Given the description of an element on the screen output the (x, y) to click on. 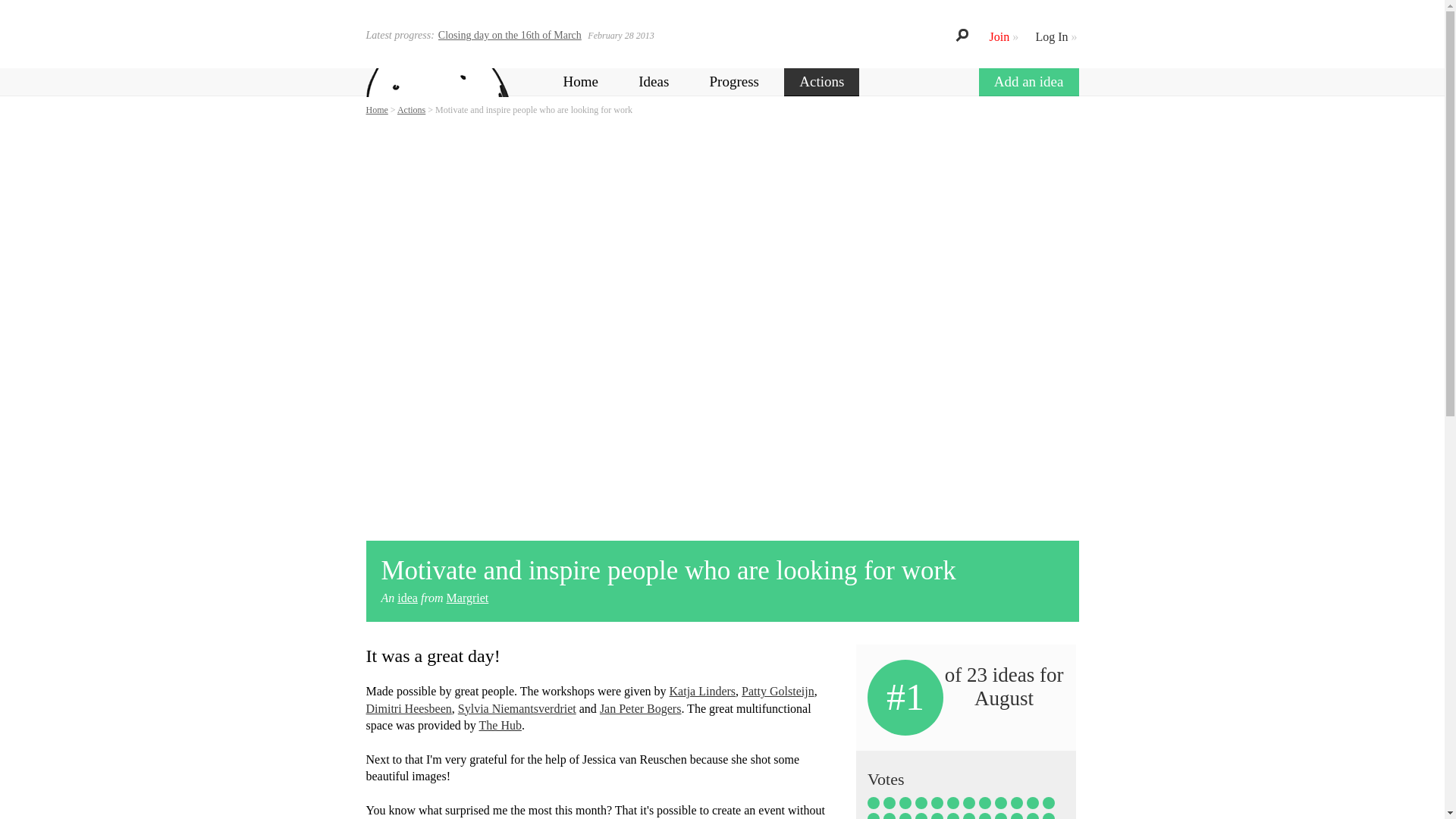
Home (376, 109)
Home (579, 81)
Katja Linders (702, 690)
Anonymous (1048, 802)
idea (407, 597)
Anonymous (937, 802)
Anonymous (1016, 802)
Patty Golsteijn (777, 690)
Actions (821, 81)
Add an idea (1028, 81)
Sylvia Niemantsverdriet (517, 707)
Anonymous (1032, 802)
Jan Peter Bogers (640, 707)
Anonymous (873, 816)
Dimitri Heesbeen (408, 707)
